Given the description of an element on the screen output the (x, y) to click on. 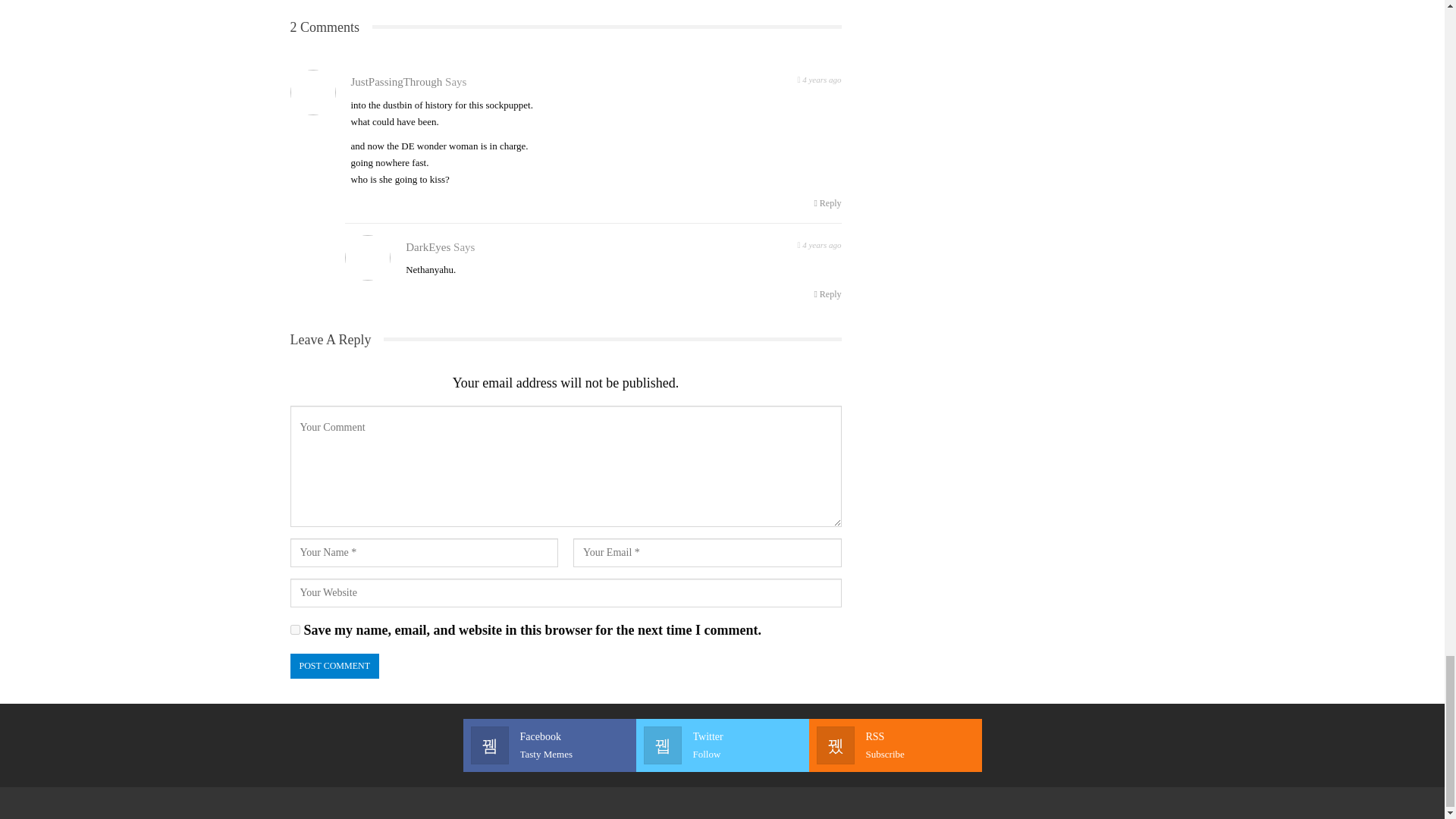
Reply (827, 293)
Sunday, December 27, 2020, 9:55 pm (894, 745)
yes (818, 77)
Post Comment (721, 745)
Reply (294, 629)
Sunday, December 27, 2020, 10:14 pm (333, 665)
Post Comment (827, 202)
